Given the description of an element on the screen output the (x, y) to click on. 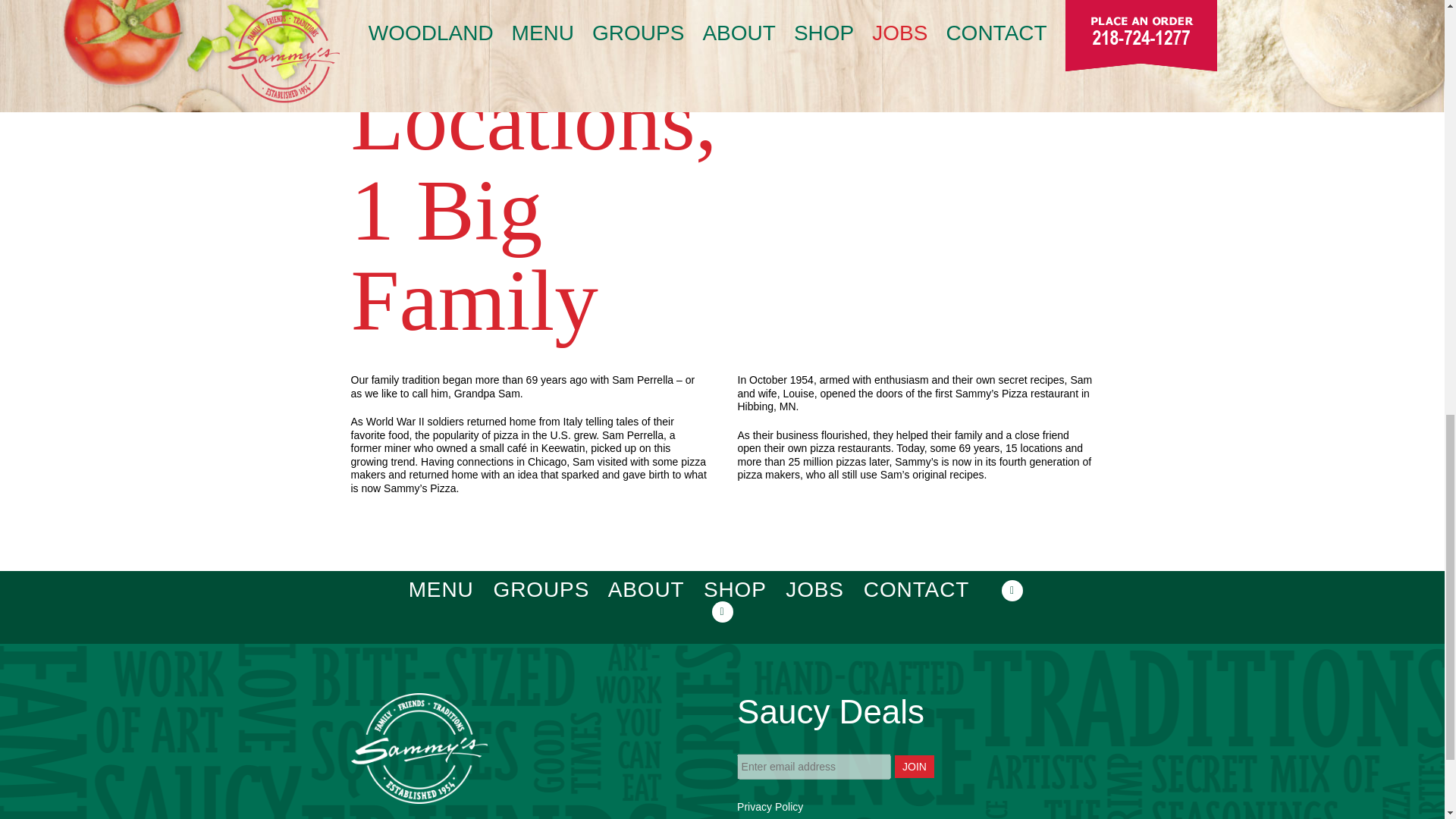
JOIN (914, 766)
JOIN (914, 766)
ABOUT (646, 589)
MENU (441, 589)
CONTACT (916, 589)
JOBS (815, 589)
SHOP (734, 589)
Privacy Policy (769, 806)
GROUPS (541, 589)
